Given the description of an element on the screen output the (x, y) to click on. 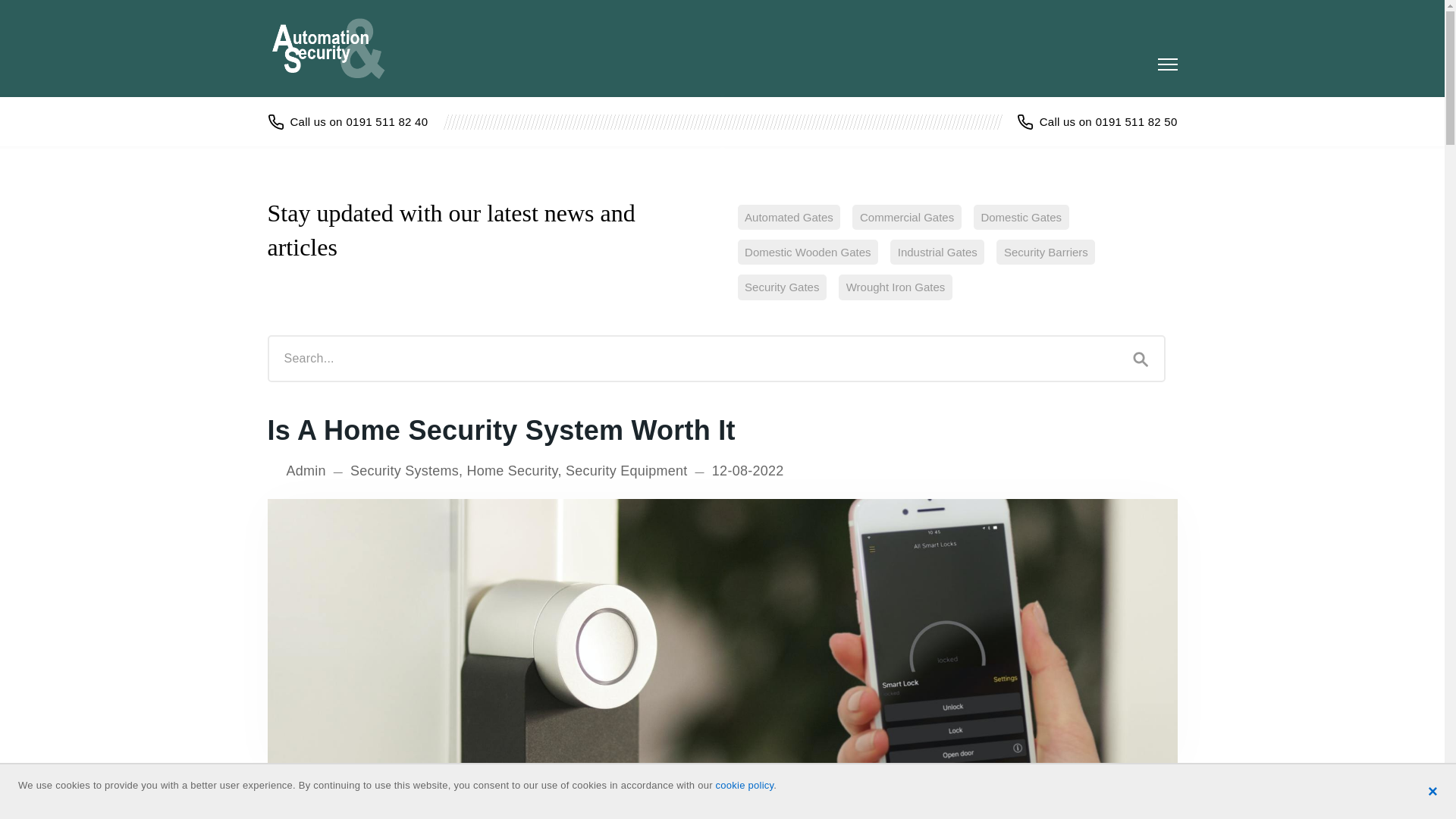
0191 511 82 50 (1096, 121)
Search (1140, 358)
Commercial Gates (905, 217)
Security Barriers (1044, 251)
Security Gates (781, 286)
Automated Gates (788, 217)
Wrought Iron Gates (895, 286)
Search (1140, 358)
Home (336, 48)
Industrial Gates (936, 251)
Navigation (1166, 64)
0191 511 82 40 (347, 121)
Domestic Gates (1021, 217)
Domestic Wooden Gates (806, 251)
